Given the description of an element on the screen output the (x, y) to click on. 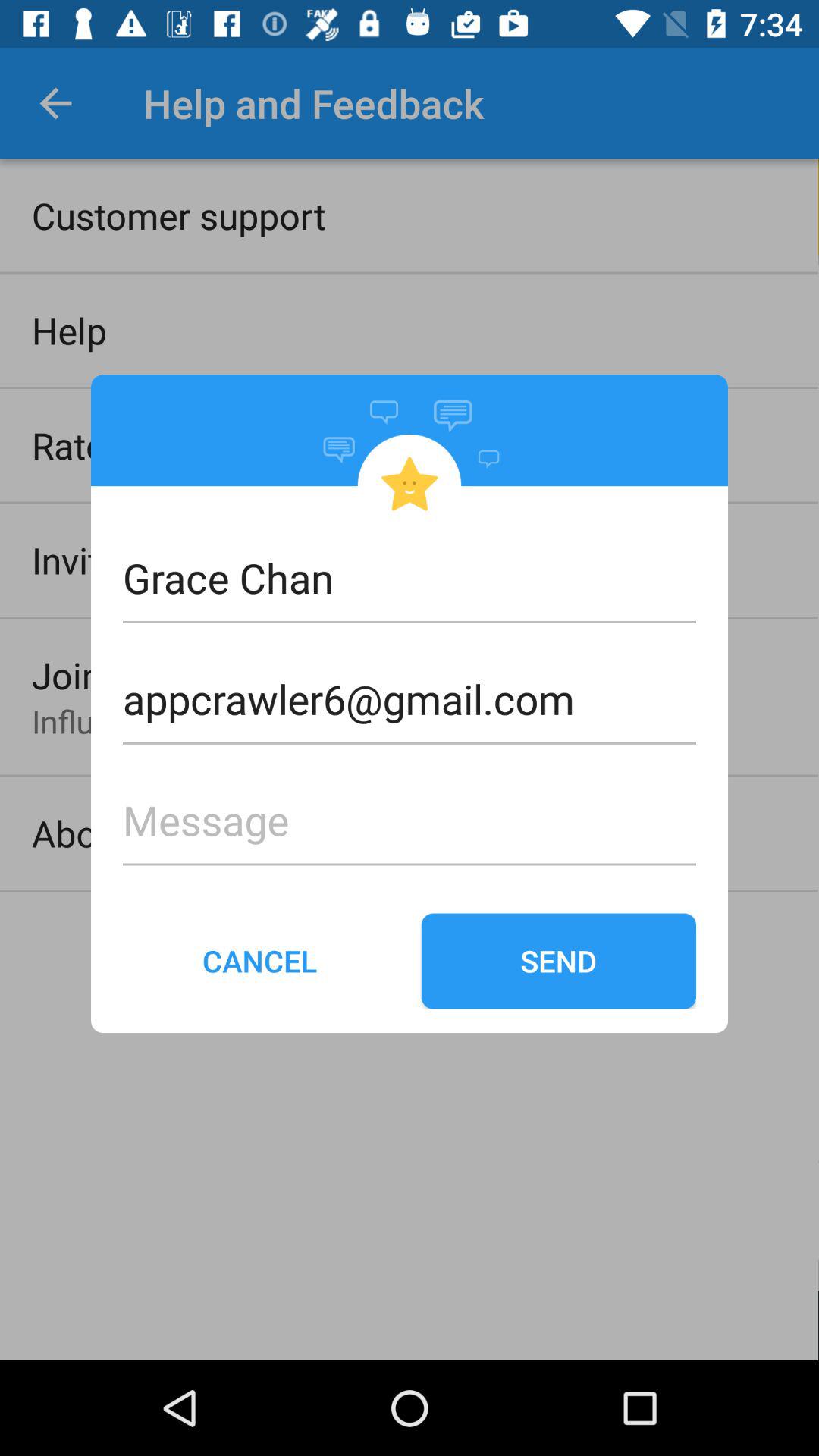
press send on the right (558, 960)
